Given the description of an element on the screen output the (x, y) to click on. 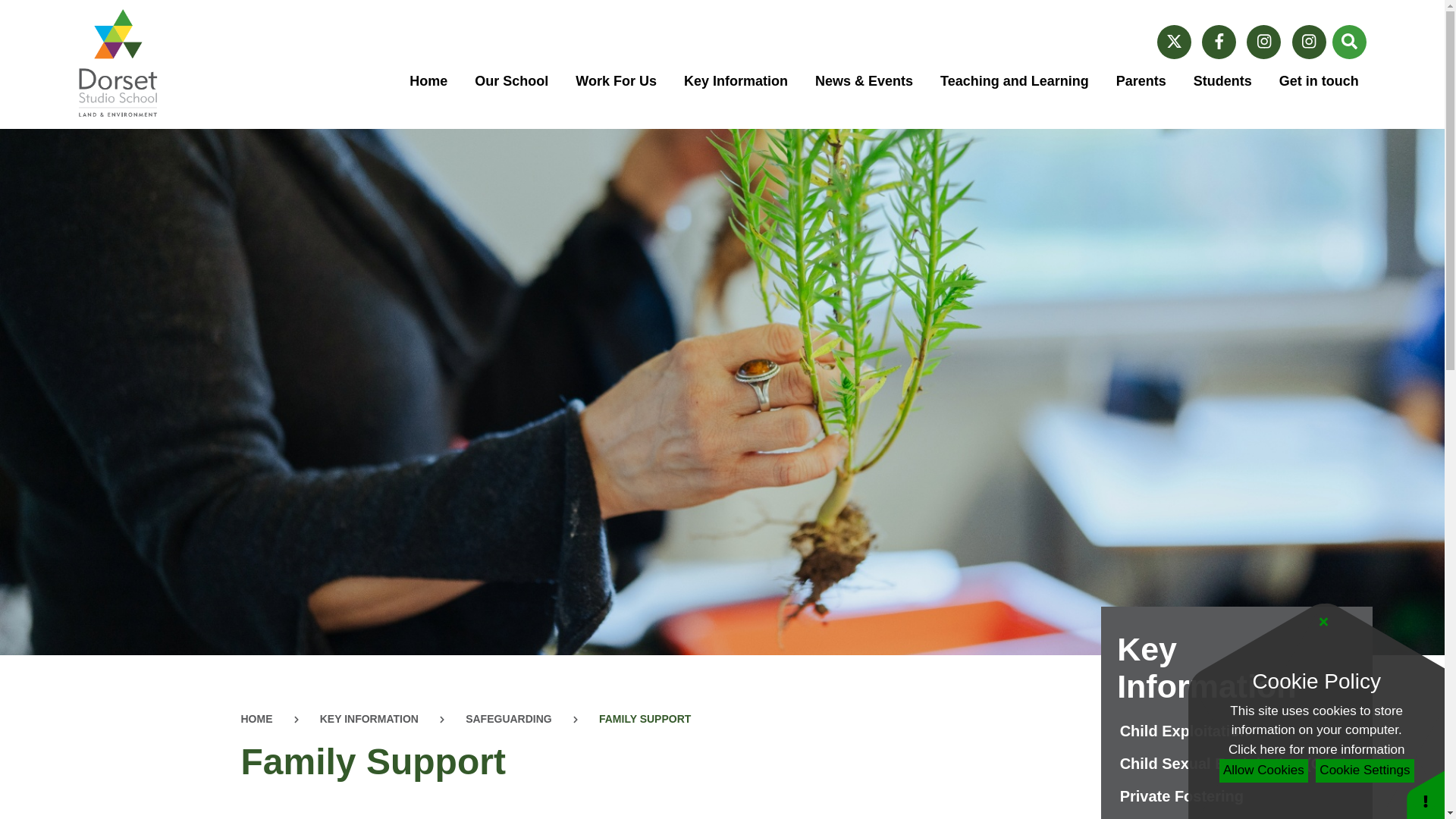
Key Information (735, 81)
Facebook (1219, 41)
Instagram art (1309, 41)
Work For Us (615, 81)
Instagram (1263, 41)
Twitter (1174, 41)
Our School (511, 81)
Home (428, 81)
